Given the description of an element on the screen output the (x, y) to click on. 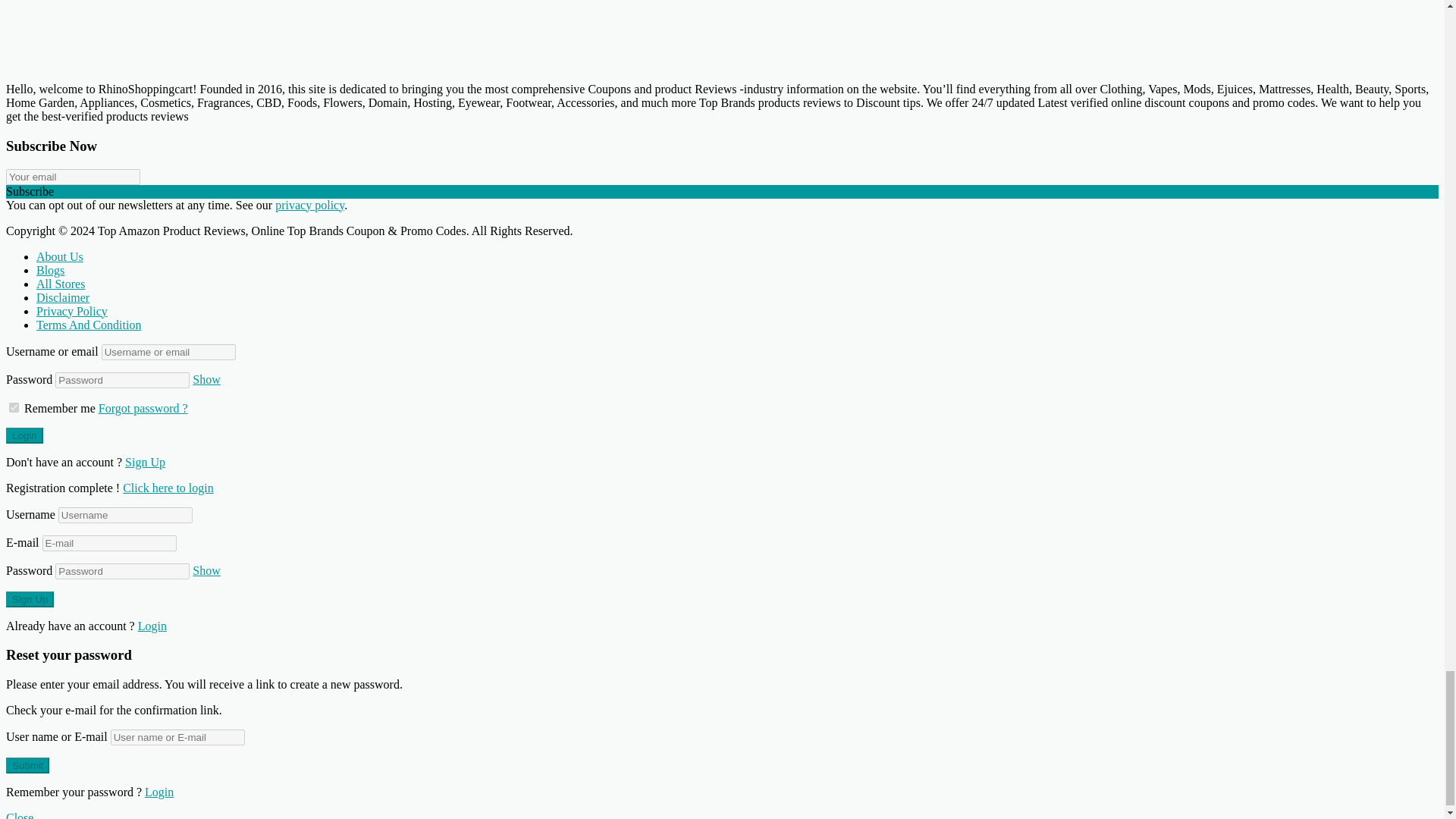
Submit (27, 765)
Login (168, 486)
forever (13, 406)
Login (24, 435)
Sign Up (29, 599)
